Given the description of an element on the screen output the (x, y) to click on. 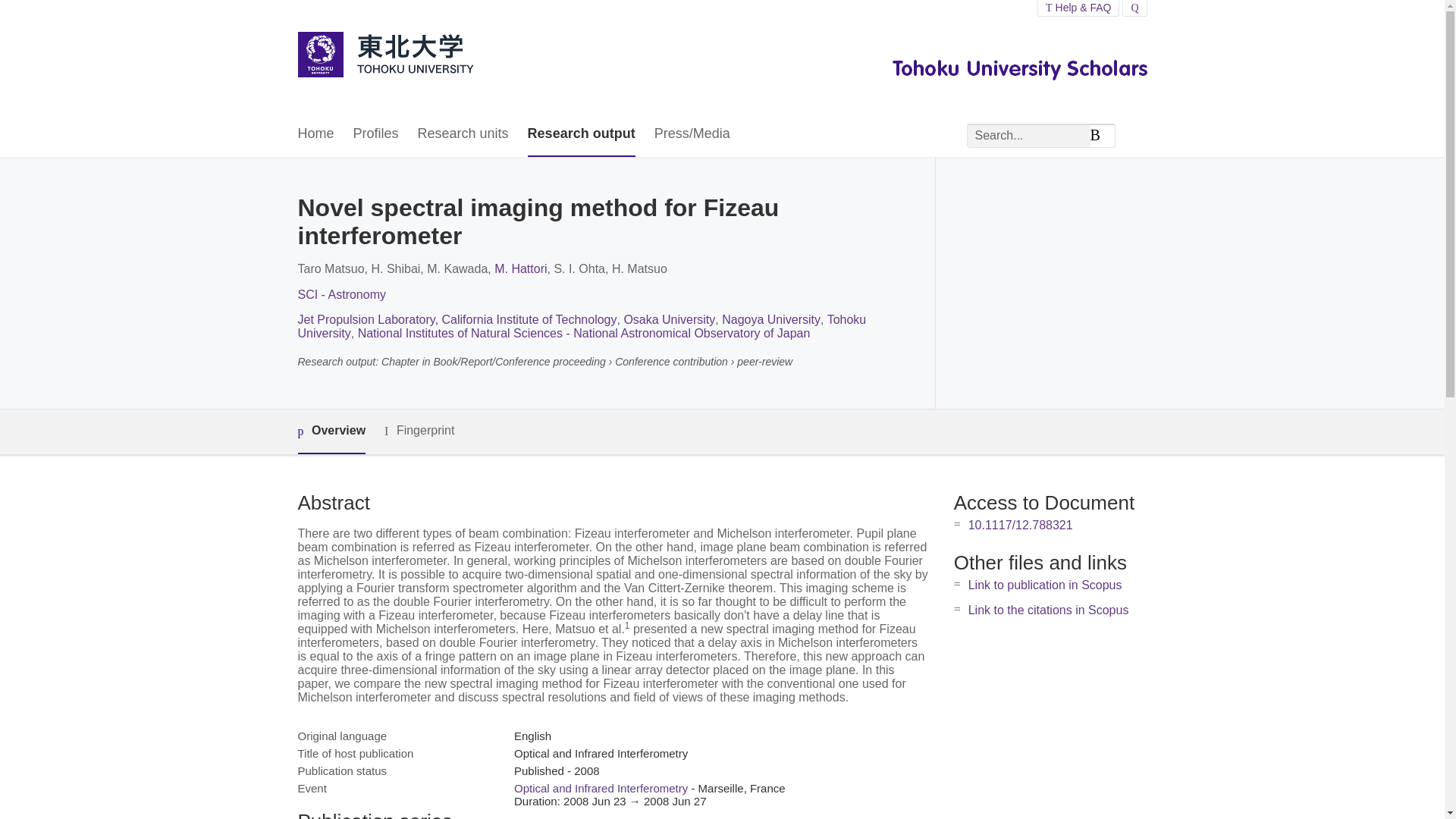
Tohoku University (581, 325)
Optical and Infrared Interferometry (600, 788)
Fingerprint (419, 430)
Link to publication in Scopus (1045, 584)
Nagoya University (771, 318)
Research output (580, 134)
M. Hattori (521, 268)
Tohoku University Home (384, 55)
SCI - Astronomy (341, 294)
